Given the description of an element on the screen output the (x, y) to click on. 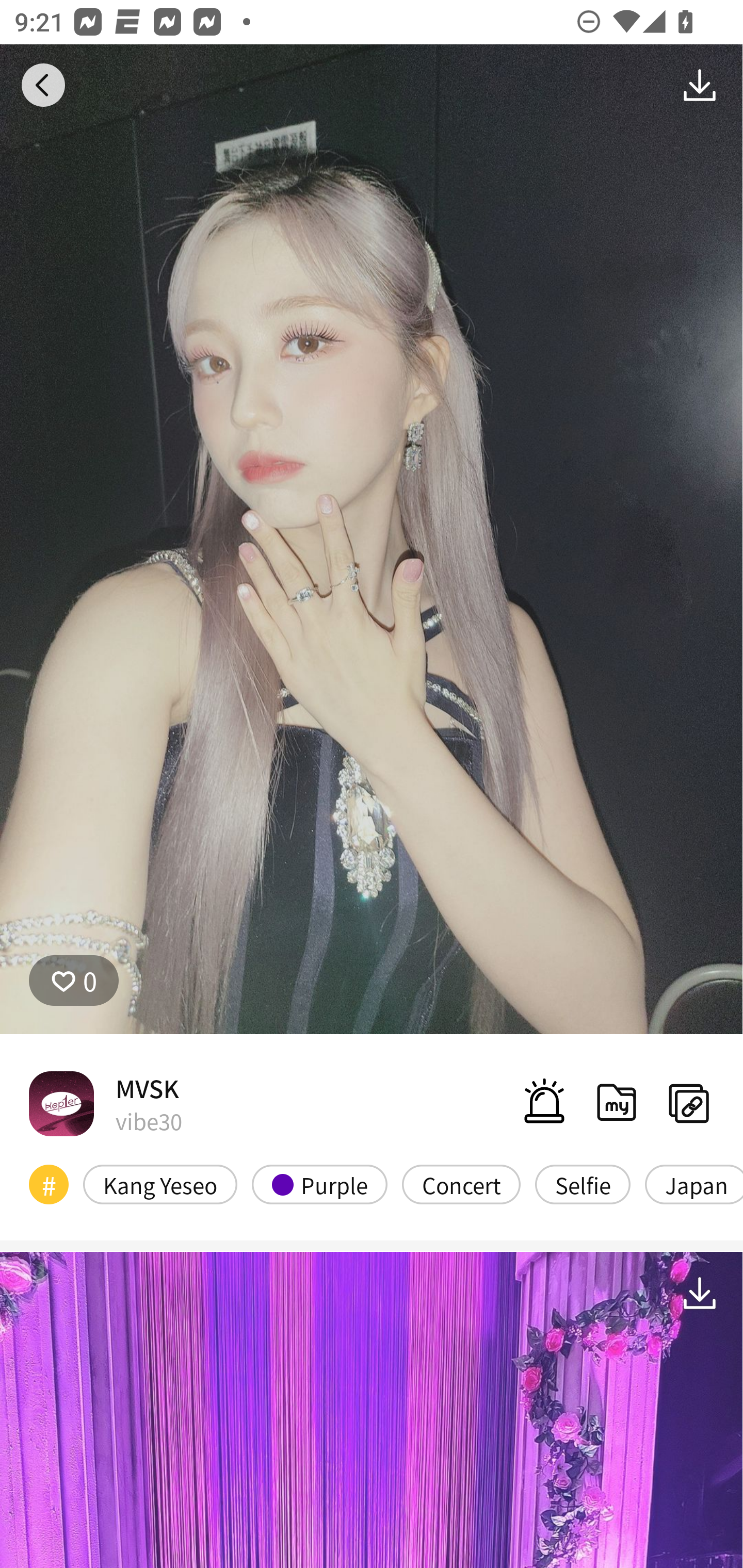
0 (73, 980)
MVSK vibe30 (105, 1102)
Kang Yeseo (160, 1184)
Purple (319, 1184)
Concert (460, 1184)
Selfie (582, 1184)
Japan (693, 1184)
